Given the description of an element on the screen output the (x, y) to click on. 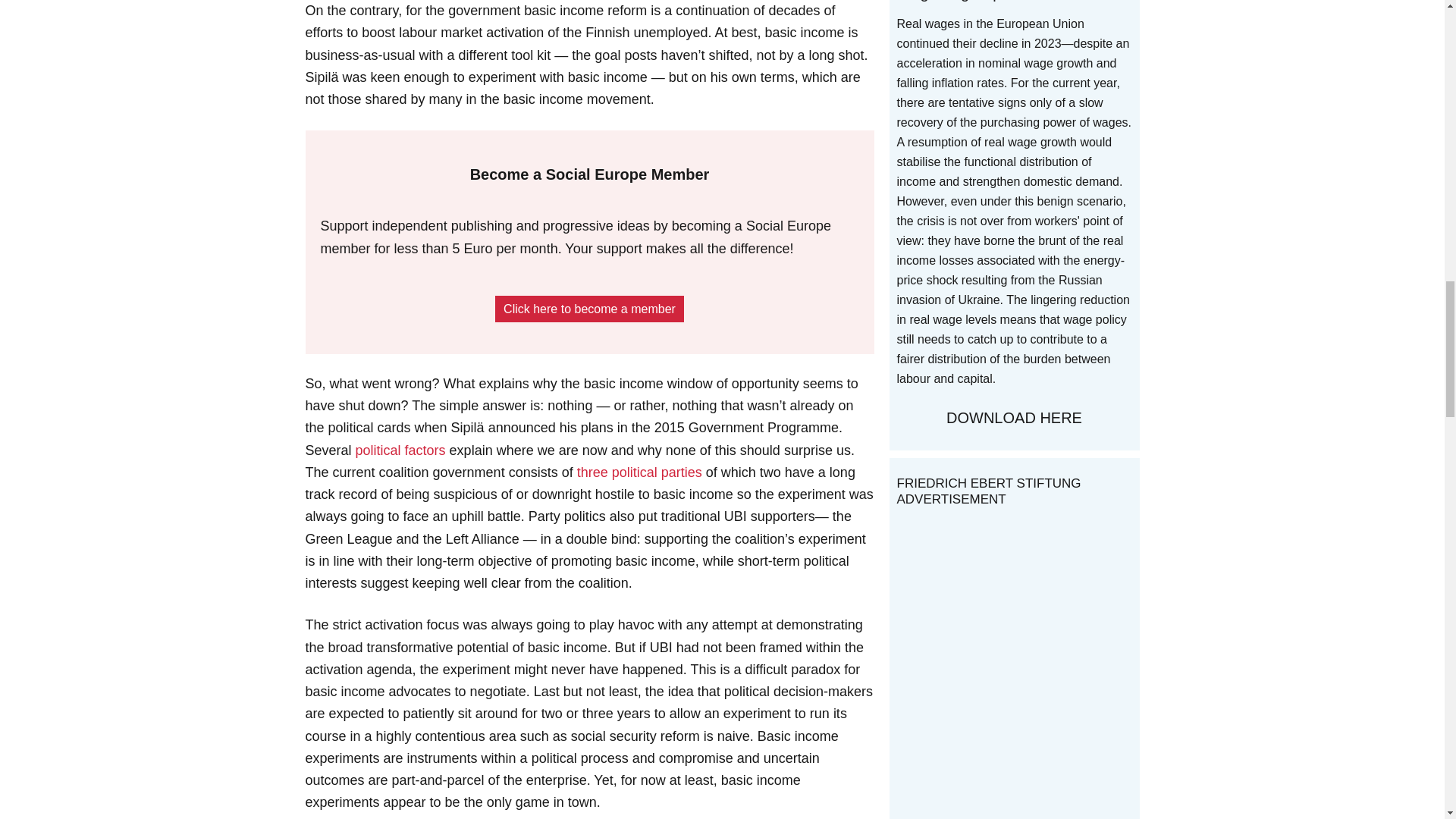
Click here to become a member (589, 308)
political factors (400, 450)
three political parties (638, 472)
